Given the description of an element on the screen output the (x, y) to click on. 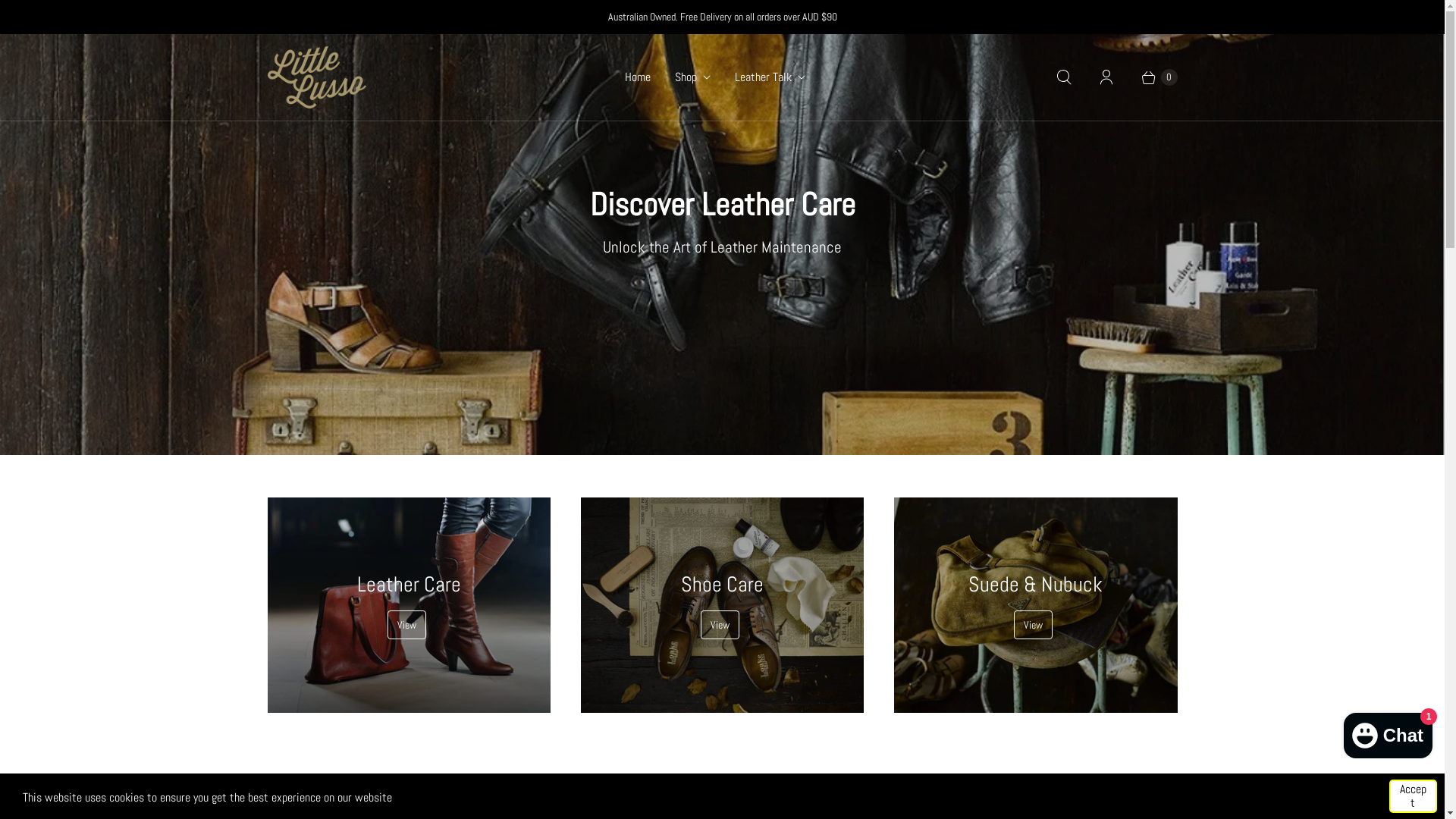
View Element type: text (719, 624)
View Element type: text (1032, 624)
View Element type: text (406, 624)
Accept Element type: text (1413, 796)
Shopify online store chat Element type: hover (1388, 732)
0 Element type: text (1151, 77)
Featured products Element type: text (721, 798)
Home Element type: text (637, 77)
